Given the description of an element on the screen output the (x, y) to click on. 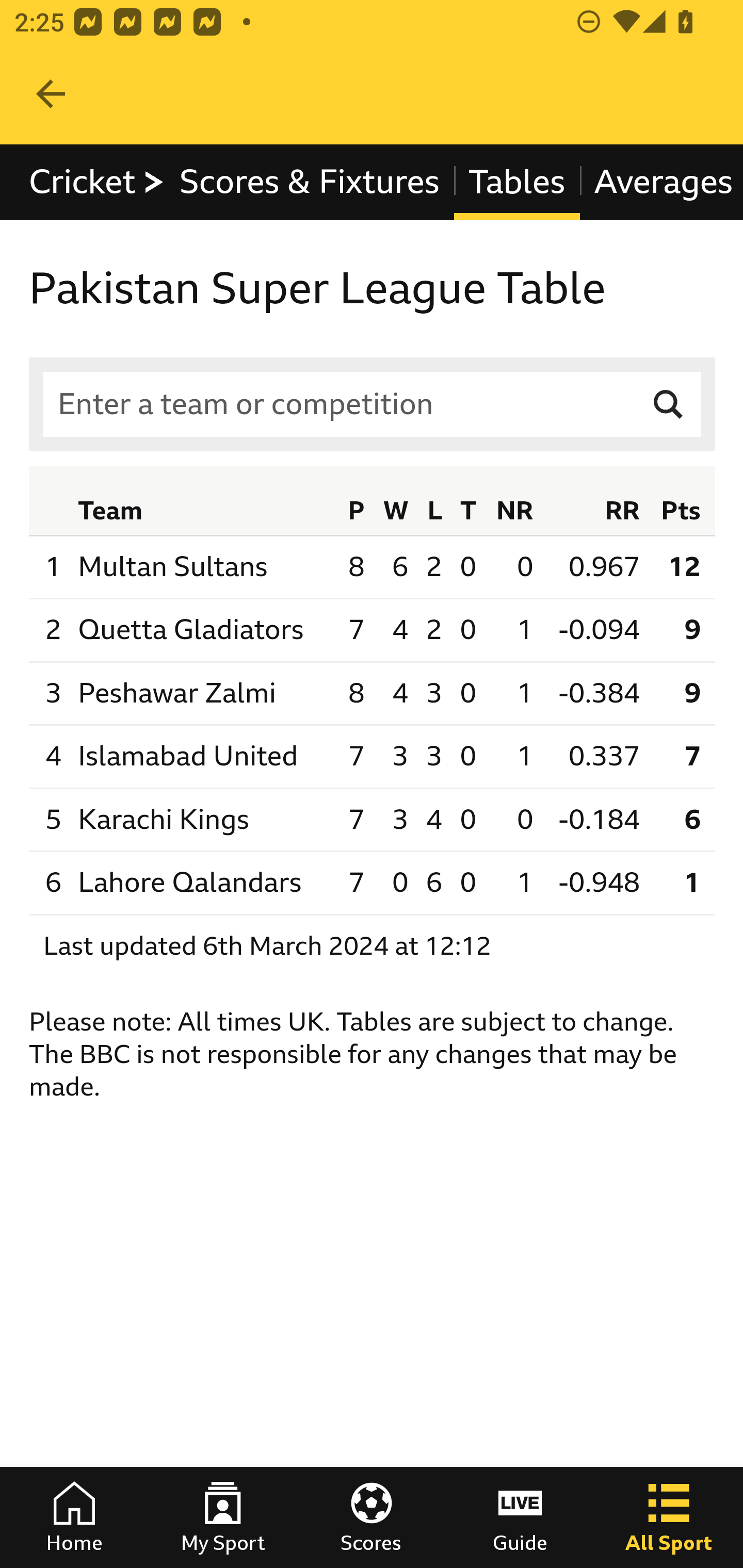
Navigate up (50, 93)
Cricket  (97, 181)
Scores & Fixtures (309, 181)
Tables (517, 181)
Averages (660, 181)
Search (669, 404)
Home (74, 1517)
My Sport (222, 1517)
Scores (371, 1517)
Guide (519, 1517)
